Given the description of an element on the screen output the (x, y) to click on. 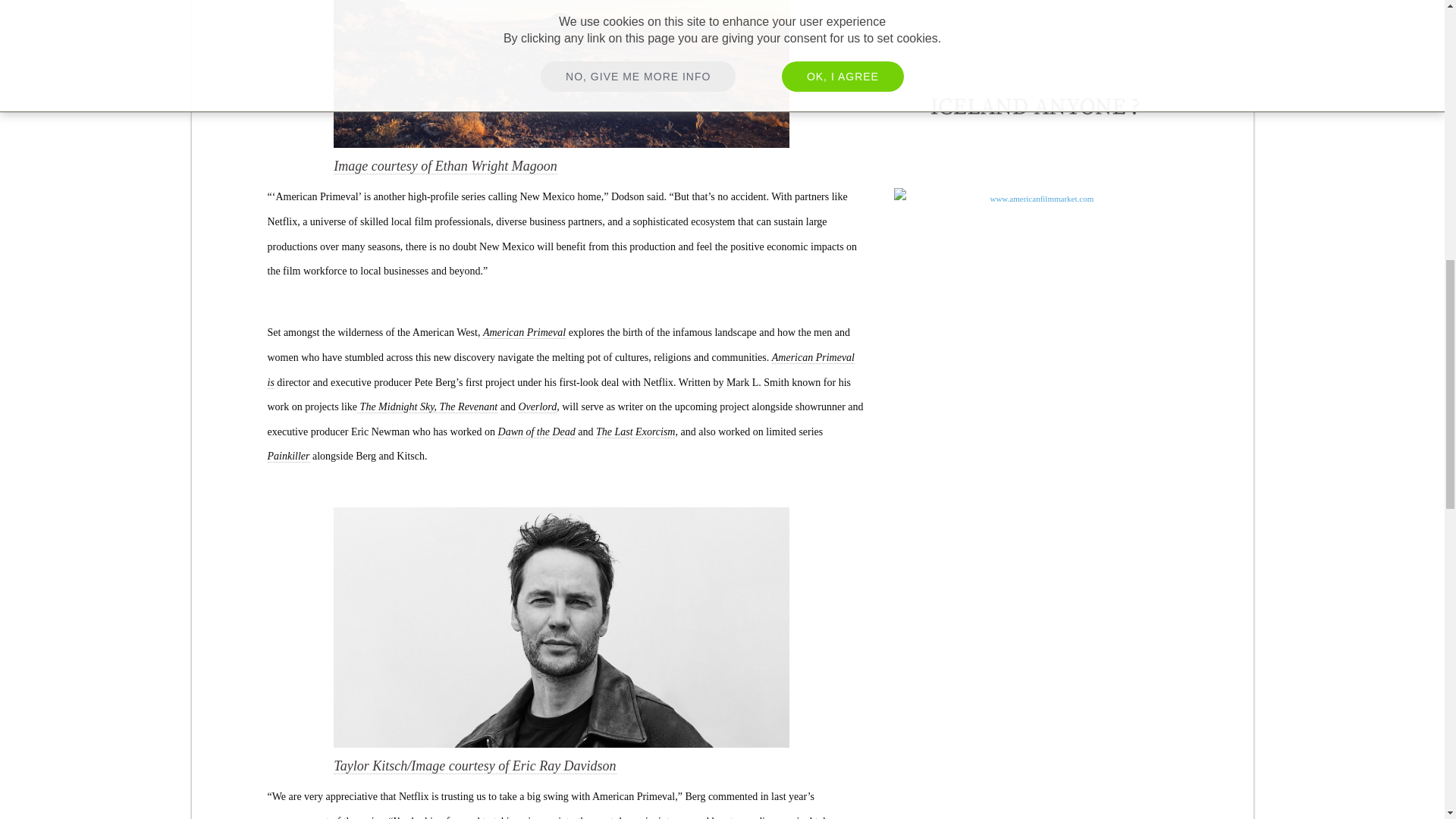
www.americanfilmmarket.com (1034, 259)
watchmen.de (1034, 14)
hero.is (1034, 108)
